Given the description of an element on the screen output the (x, y) to click on. 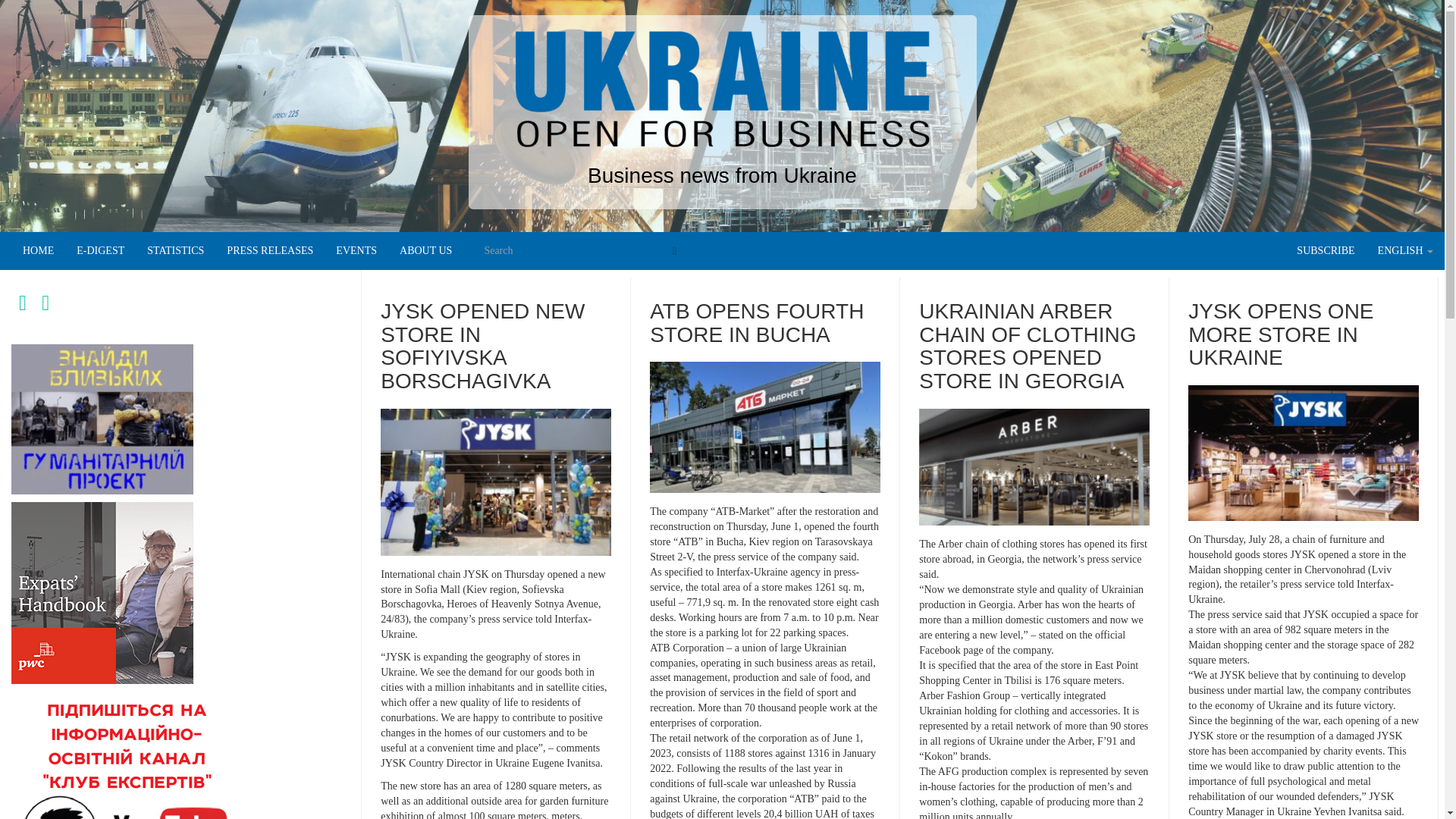
JYSK OPENS ONE MORE STORE IN UKRAINE (1280, 334)
HOME (38, 250)
About us (425, 250)
Home (38, 250)
SUBSCRIBE (1325, 250)
PRESS RELEASES (269, 250)
Events (356, 250)
E-digest (100, 250)
EVENTS (356, 250)
Statistics (175, 250)
ATB OPENS FOURTH STORE IN BUCHA (756, 322)
ABOUT US (425, 250)
E-DIGEST (100, 250)
JYSK OPENED NEW STORE IN SOFIYIVSKA BORSCHAGIVKA (482, 346)
PRESS RELEASES (269, 250)
